Given the description of an element on the screen output the (x, y) to click on. 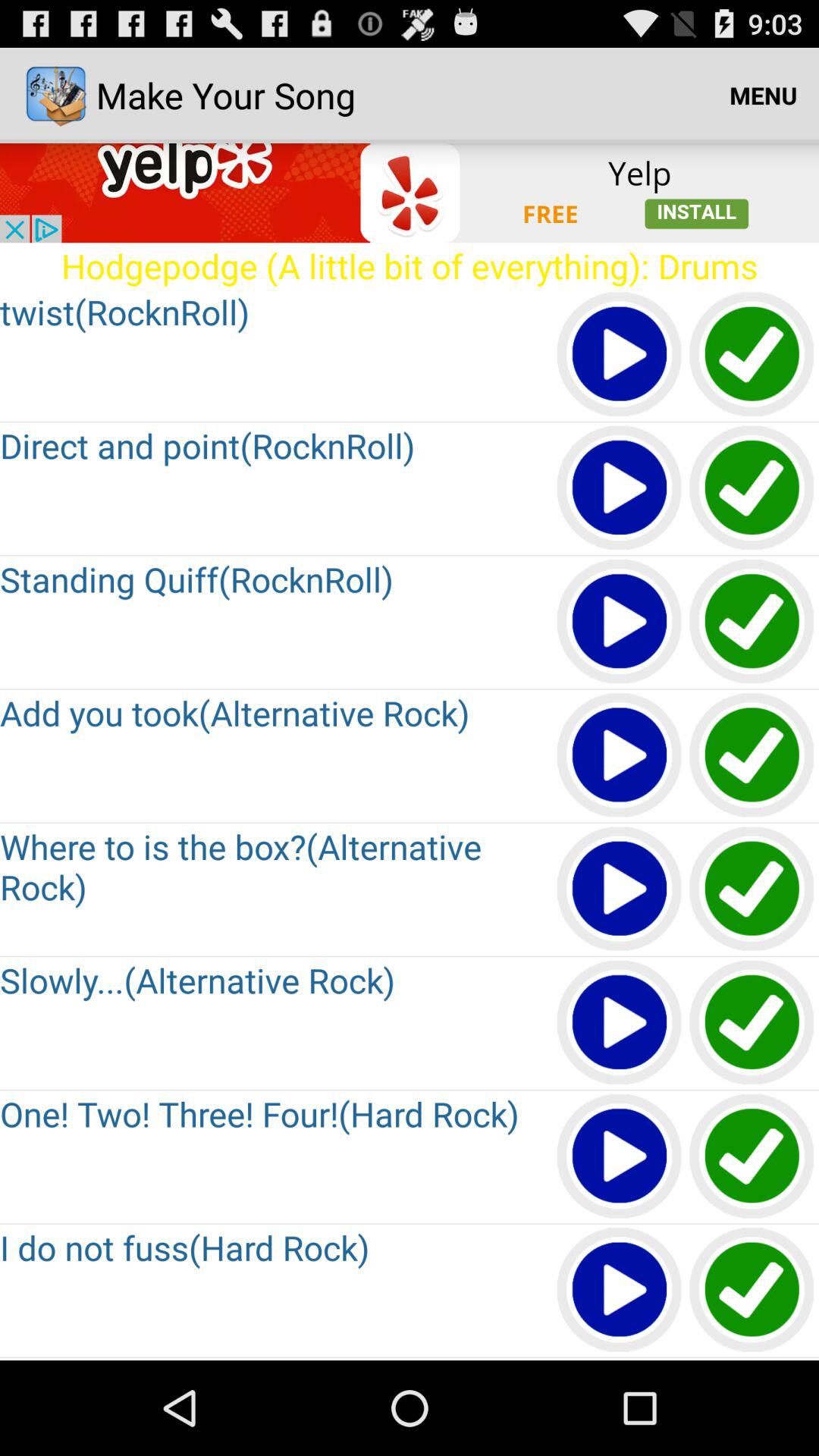
play all (619, 488)
